Given the description of an element on the screen output the (x, y) to click on. 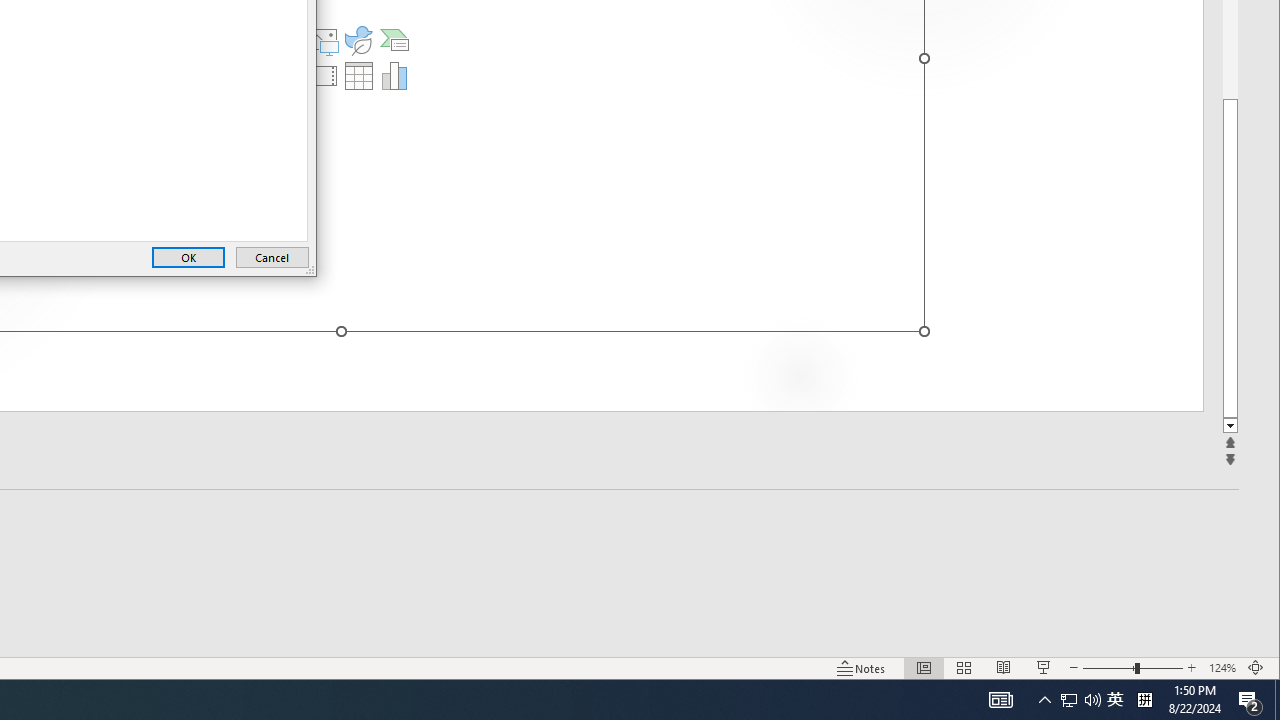
Insert Chart (394, 75)
OK (188, 257)
